Given the description of an element on the screen output the (x, y) to click on. 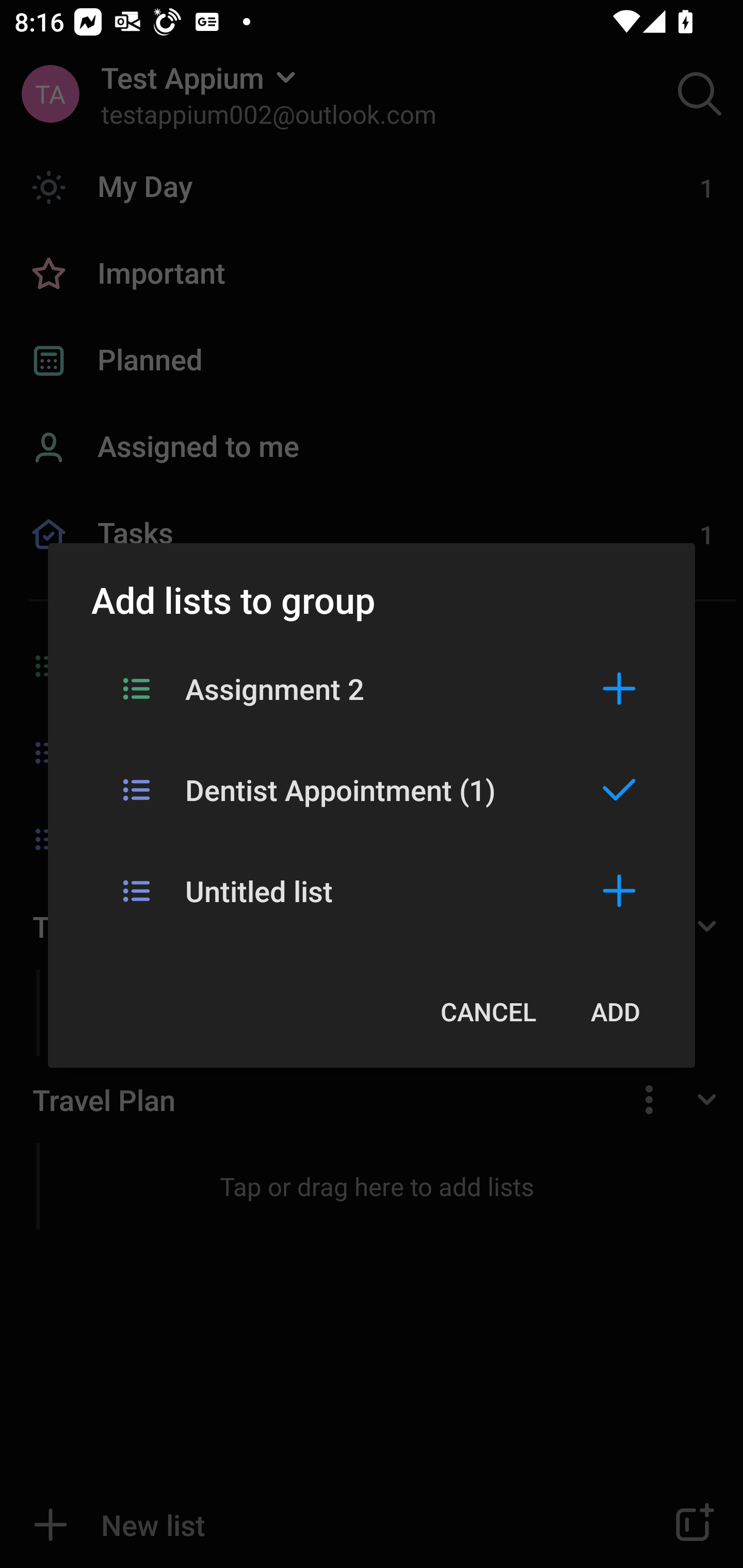
Assignment 2 (371, 688)
Dentist Appointment (1) (371, 789)
Untitled list (371, 890)
CANCEL (488, 1010)
ADD (615, 1010)
